Given the description of an element on the screen output the (x, y) to click on. 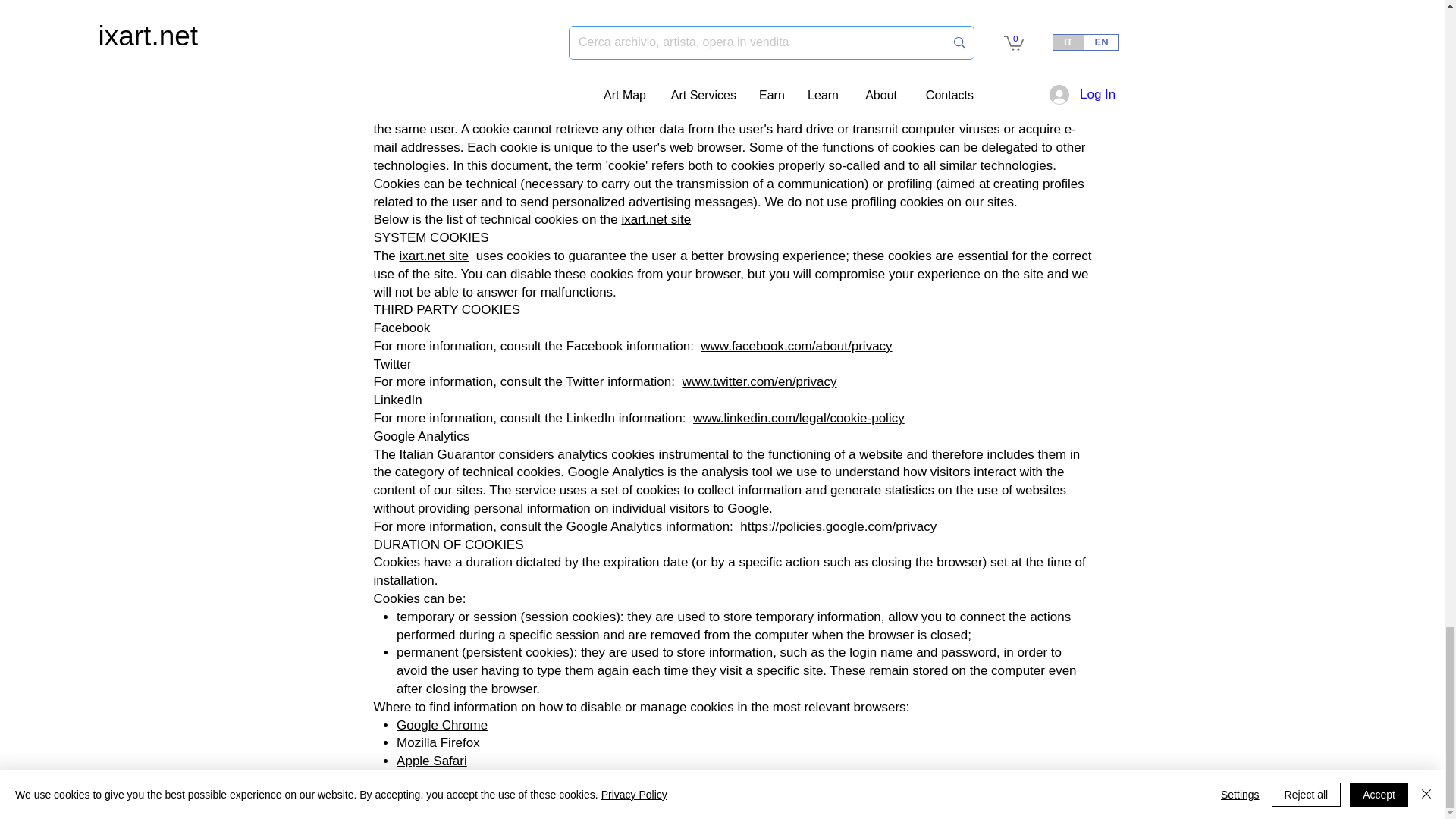
ixart.net site (655, 219)
ixart.net site (433, 255)
ixart.net site (433, 93)
